Given the description of an element on the screen output the (x, y) to click on. 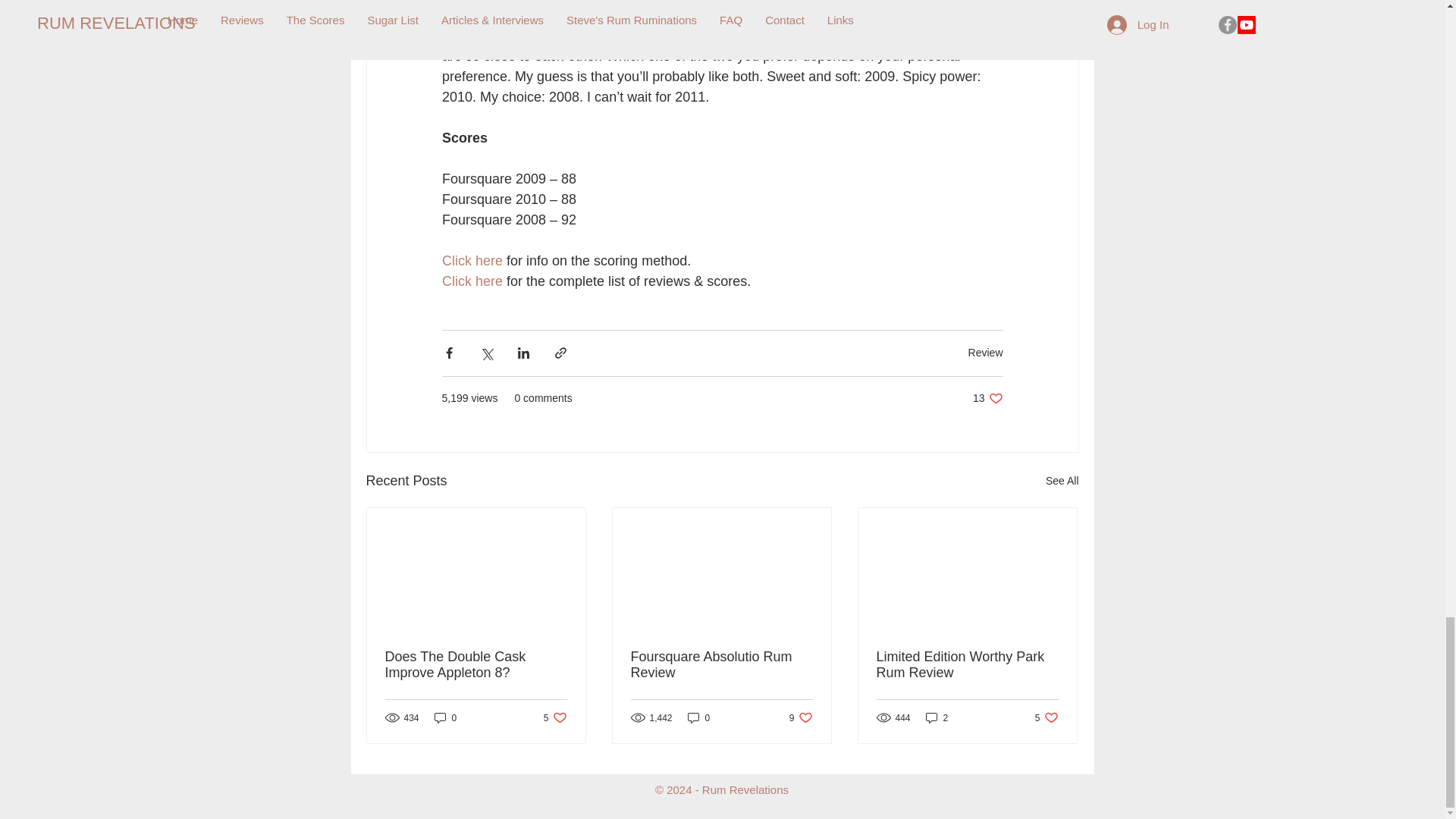
0 (445, 717)
0 (987, 398)
Click here (698, 717)
See All (471, 260)
Does The Double Cask Improve Appleton 8? (1061, 481)
Click here (476, 664)
Review (471, 281)
